Given the description of an element on the screen output the (x, y) to click on. 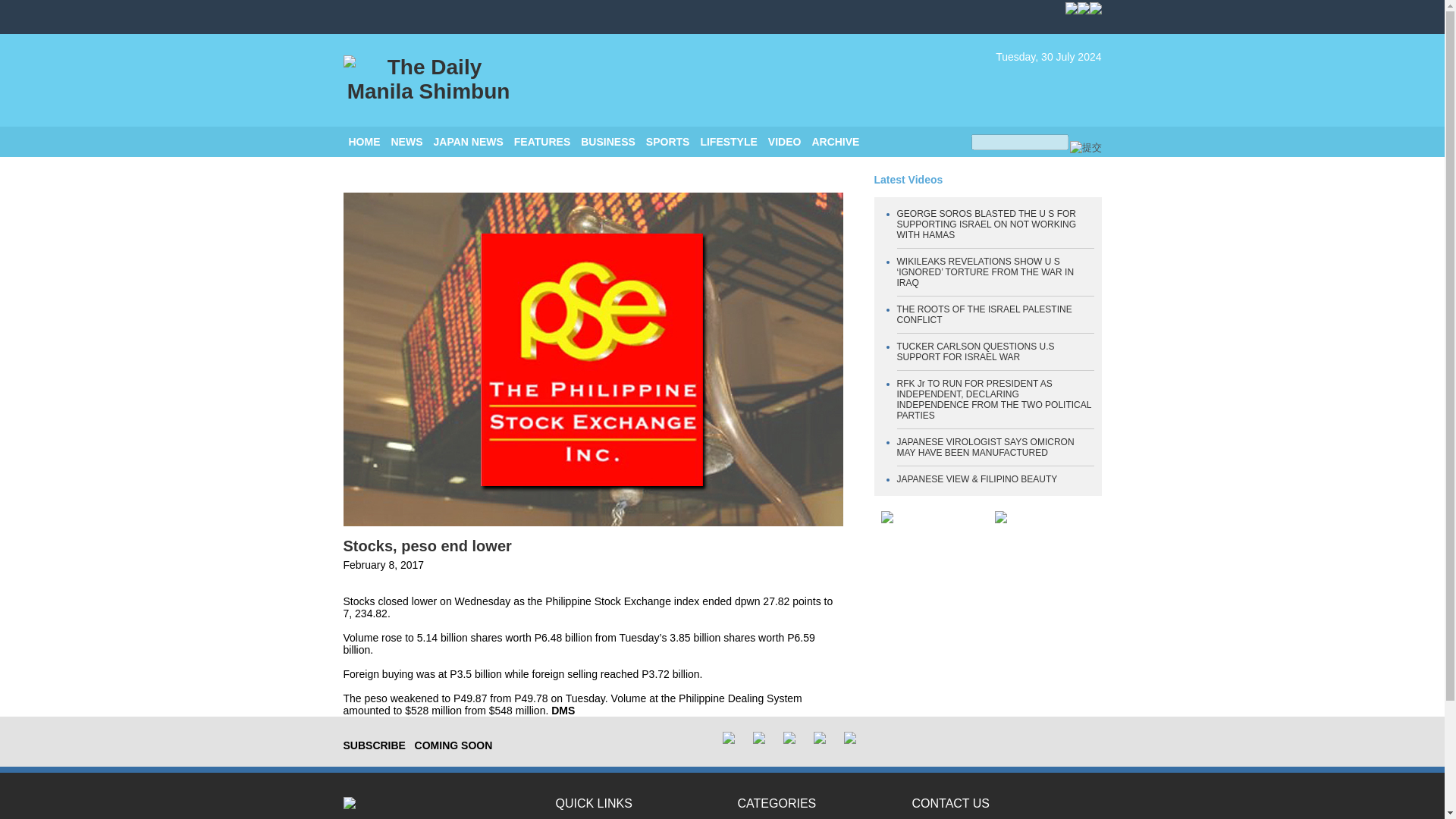
JAPANESE VIROLOGIST SAYS OMICRON MAY HAVE BEEN MANUFACTURED (985, 446)
BUSINESS (607, 141)
LIFESTYLE (728, 141)
TUCKER CARLSON QUESTIONS U.S SUPPORT FOR ISRAEL WAR (975, 351)
THE ROOTS OF THE ISRAEL PALESTINE CONFLICT (983, 314)
NEWS (407, 141)
SPORTS (668, 141)
The Daily Manila Shimbun (427, 79)
VIDEO (785, 141)
JAPAN NEWS (468, 141)
ARCHIVE (834, 141)
Stocks, peso end lower (426, 545)
HOME (364, 141)
